Given the description of an element on the screen output the (x, y) to click on. 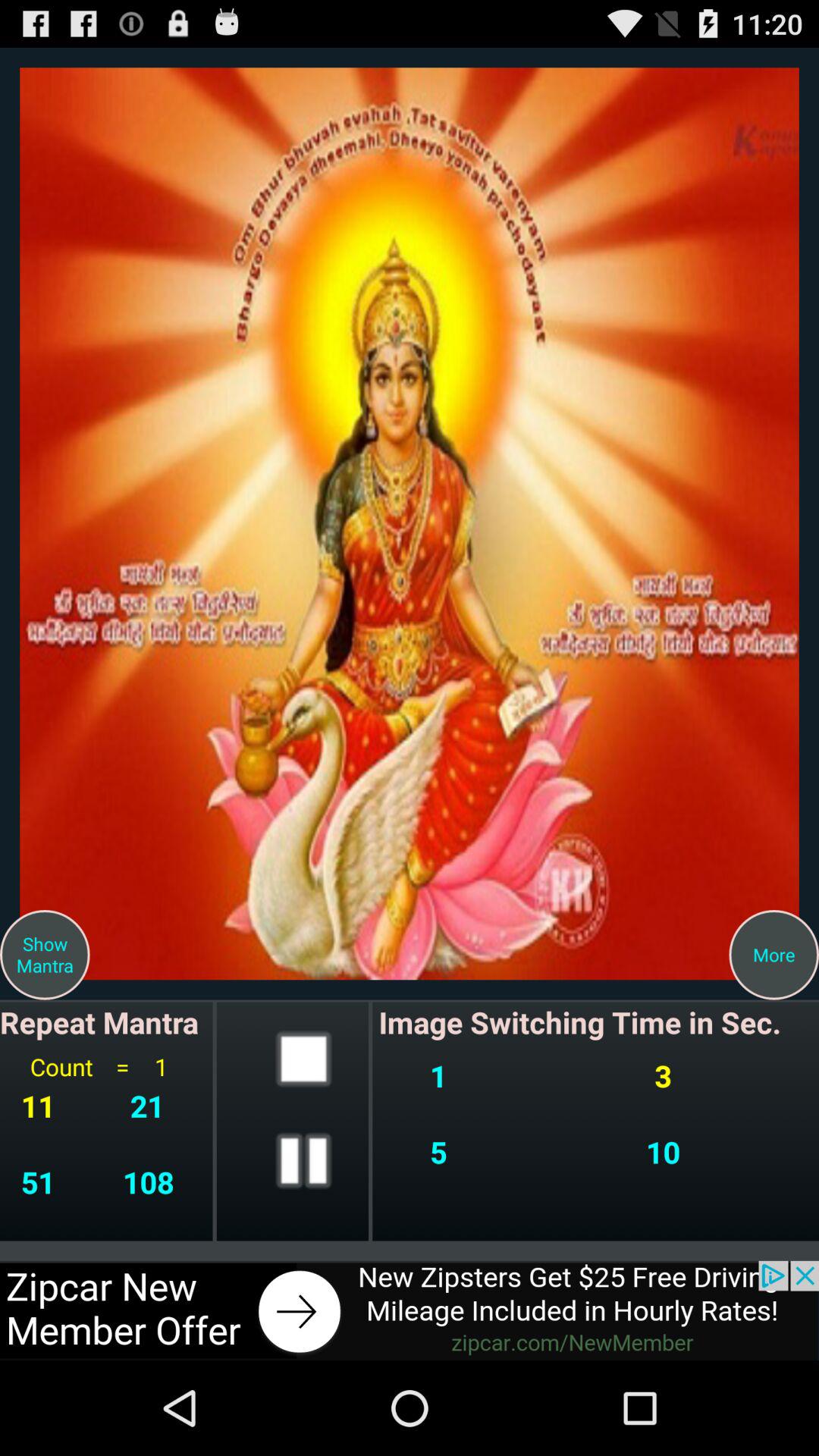
pause icon (303, 1160)
